Given the description of an element on the screen output the (x, y) to click on. 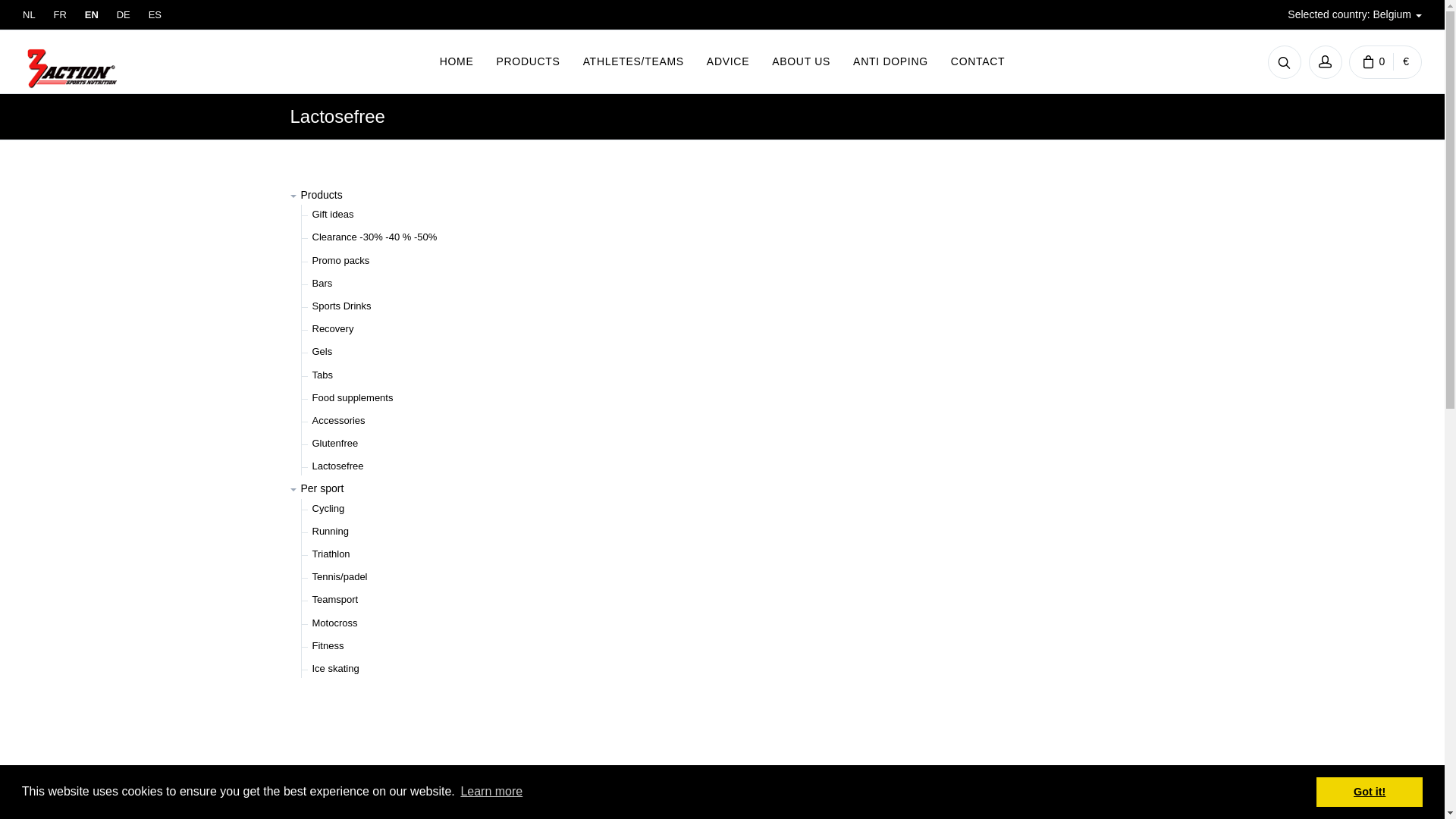
Motocross Element type: text (334, 622)
PRODUCTS Element type: text (527, 61)
DE Element type: text (123, 14)
Gift ideas Element type: text (333, 213)
FR Element type: text (59, 14)
Gels Element type: text (322, 351)
Ice skating Element type: text (335, 668)
ANTI DOPING Element type: text (890, 61)
Triathlon Element type: text (331, 553)
Got it! Element type: text (1369, 791)
Tabs Element type: text (322, 373)
Bars Element type: text (322, 282)
ES Element type: text (154, 14)
Running Element type: text (330, 530)
Cycling Element type: text (328, 508)
Promo packs Element type: text (341, 260)
Lactosefree Element type: text (338, 465)
ATHLETES/TEAMS Element type: text (633, 61)
Tennis/padel Element type: text (339, 576)
EN Element type: text (91, 14)
Food supplements Element type: text (352, 397)
NL Element type: text (28, 14)
Glutenfree Element type: text (335, 442)
ABOUT US Element type: text (800, 61)
Sports Drinks Element type: text (341, 305)
Learn more Element type: text (491, 791)
Fitness Element type: text (328, 645)
Recovery Element type: text (333, 328)
HOME Element type: text (456, 61)
ADVICE Element type: text (727, 61)
Accessories Element type: text (338, 420)
Clearance -30% -40 % -50% Element type: text (374, 236)
CONTACT Element type: text (977, 61)
Teamsport Element type: text (335, 599)
